Given the description of an element on the screen output the (x, y) to click on. 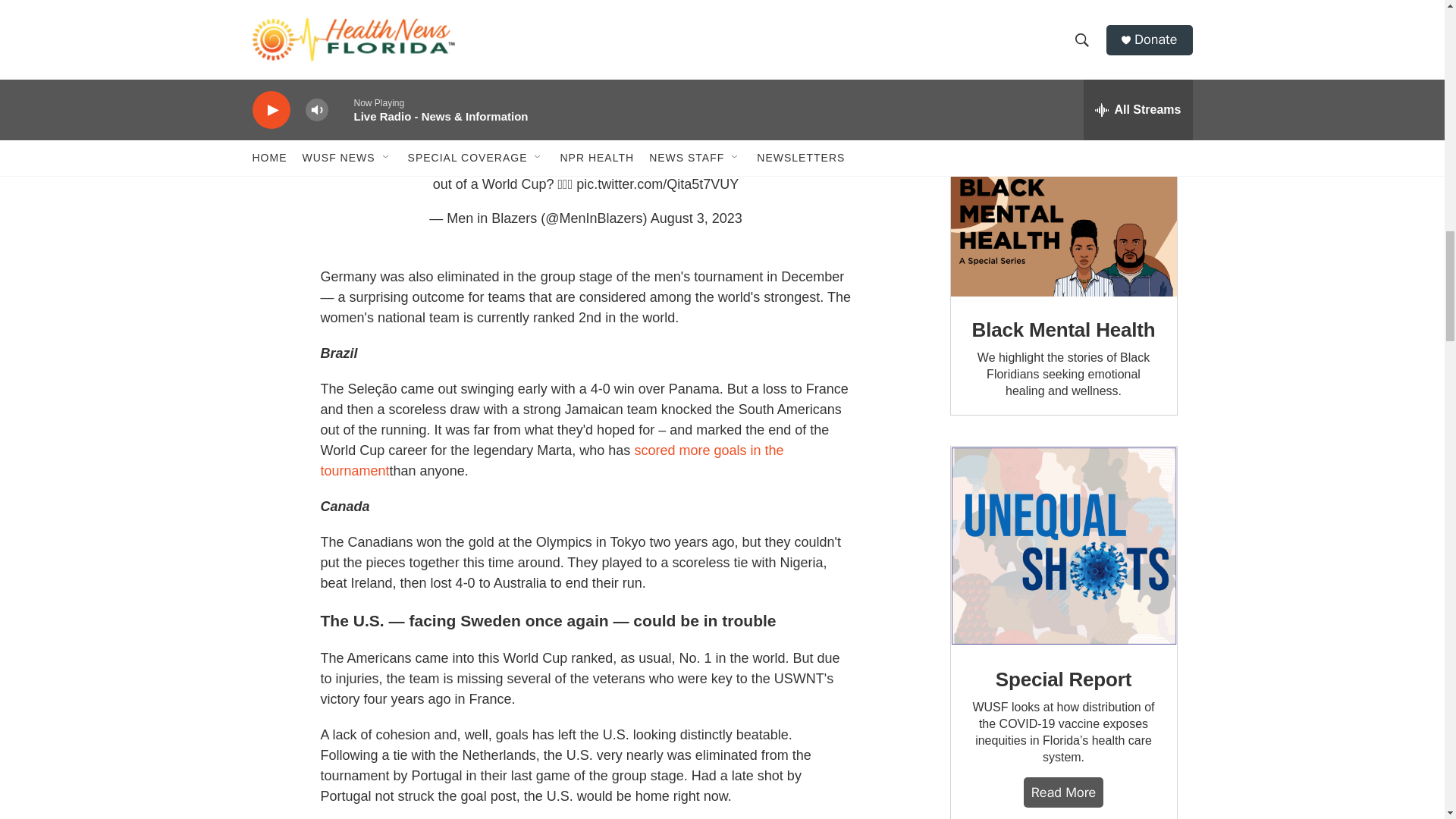
3rd party ad content (1062, 69)
